Given the description of an element on the screen output the (x, y) to click on. 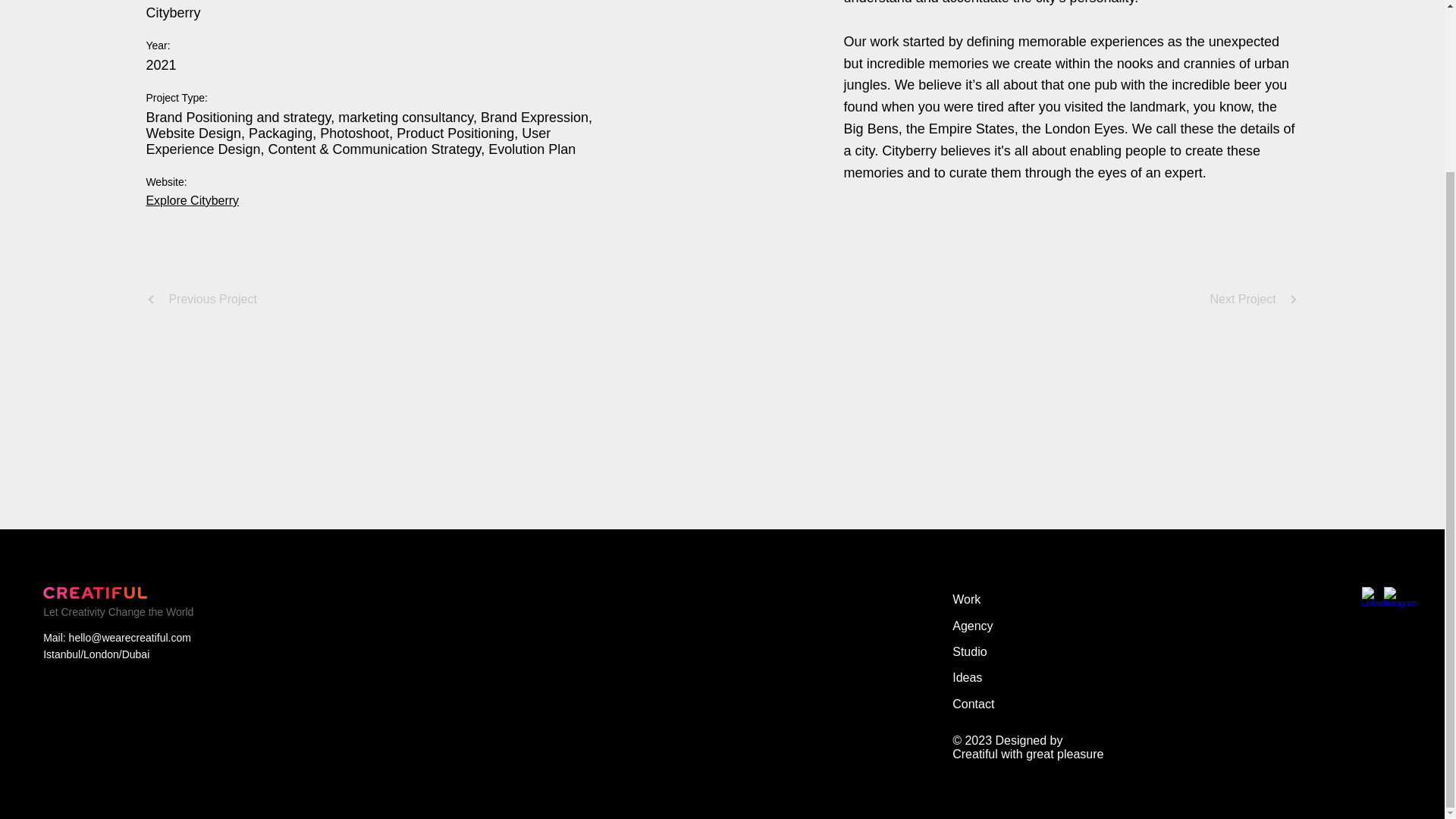
Previous Project (201, 299)
Explore Cityberry (191, 200)
Next Project (1253, 299)
Ideas (1013, 678)
Agency (1013, 626)
Studio (1013, 652)
Contact (1013, 704)
Work (1013, 599)
